Given the description of an element on the screen output the (x, y) to click on. 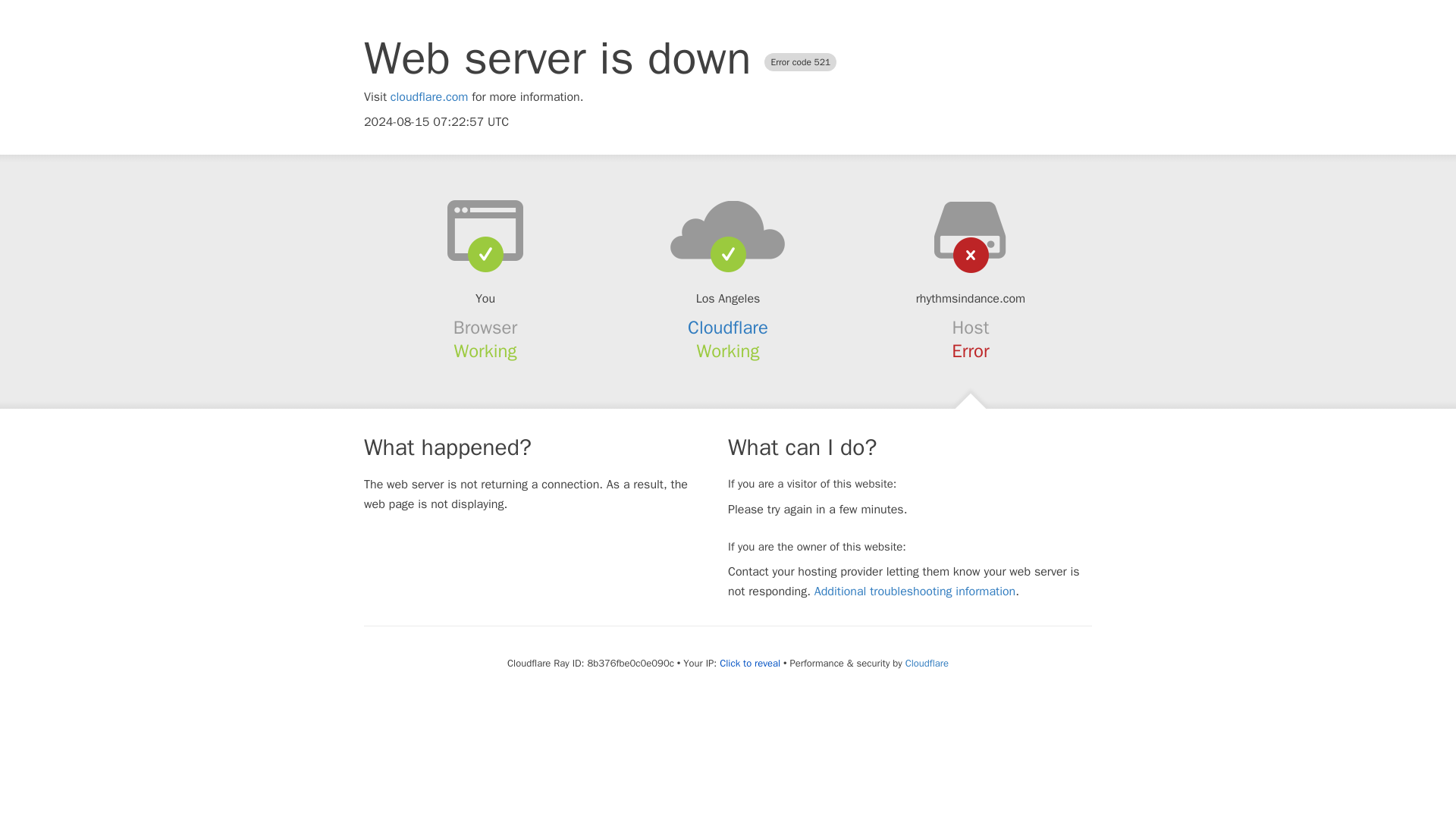
Additional troubleshooting information (913, 590)
Cloudflare (727, 327)
Cloudflare (927, 662)
cloudflare.com (429, 96)
Click to reveal (749, 663)
